Given the description of an element on the screen output the (x, y) to click on. 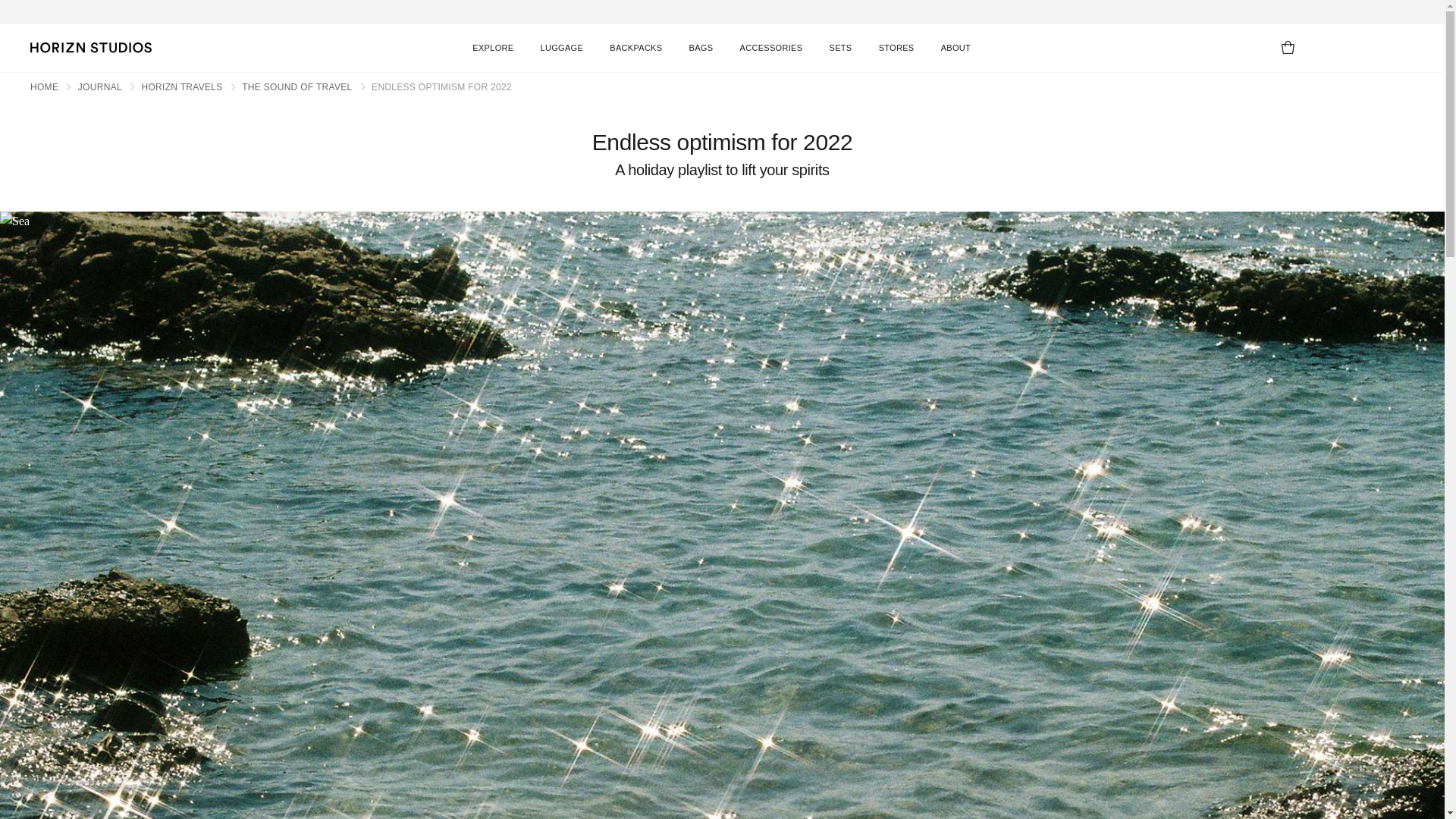
Horizn Studios (90, 47)
EXPLORE (492, 47)
LUGGAGE (561, 47)
